Given the description of an element on the screen output the (x, y) to click on. 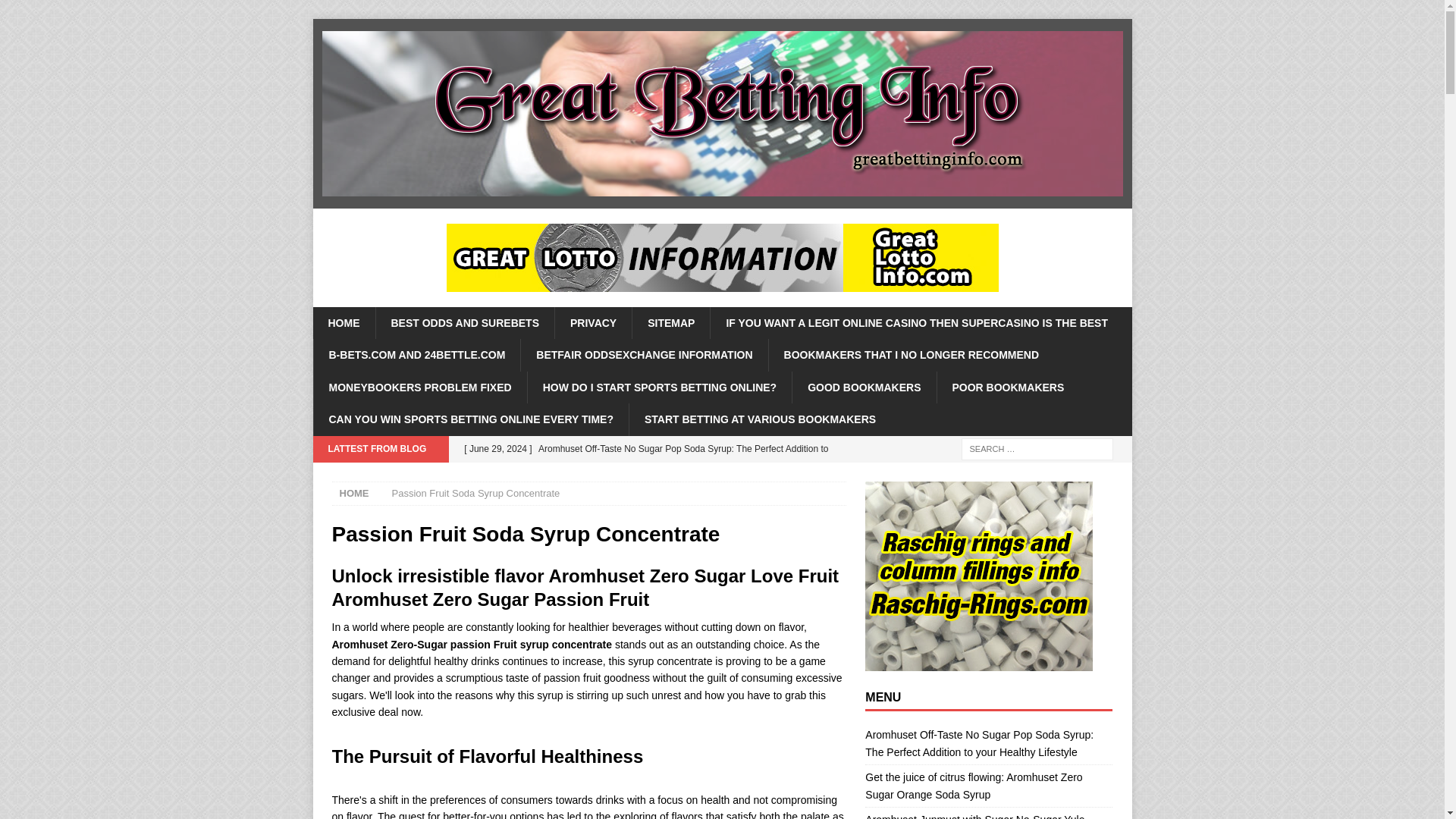
Great lotto information! (721, 257)
PRIVACY (592, 323)
START BETTING AT VARIOUS BOOKMAKERS (759, 418)
HOME (354, 492)
POOR BOOKMAKERS (1007, 387)
B-BETS.COM AND 24BETTLE.COM (416, 355)
SITEMAP (670, 323)
Raschig rings and column fillings info (978, 575)
MONEYBOOKERS PROBLEM FIXED (419, 387)
BEST ODDS AND SUREBETS (464, 323)
Search (56, 11)
GOOD BOOKMAKERS (864, 387)
